Given the description of an element on the screen output the (x, y) to click on. 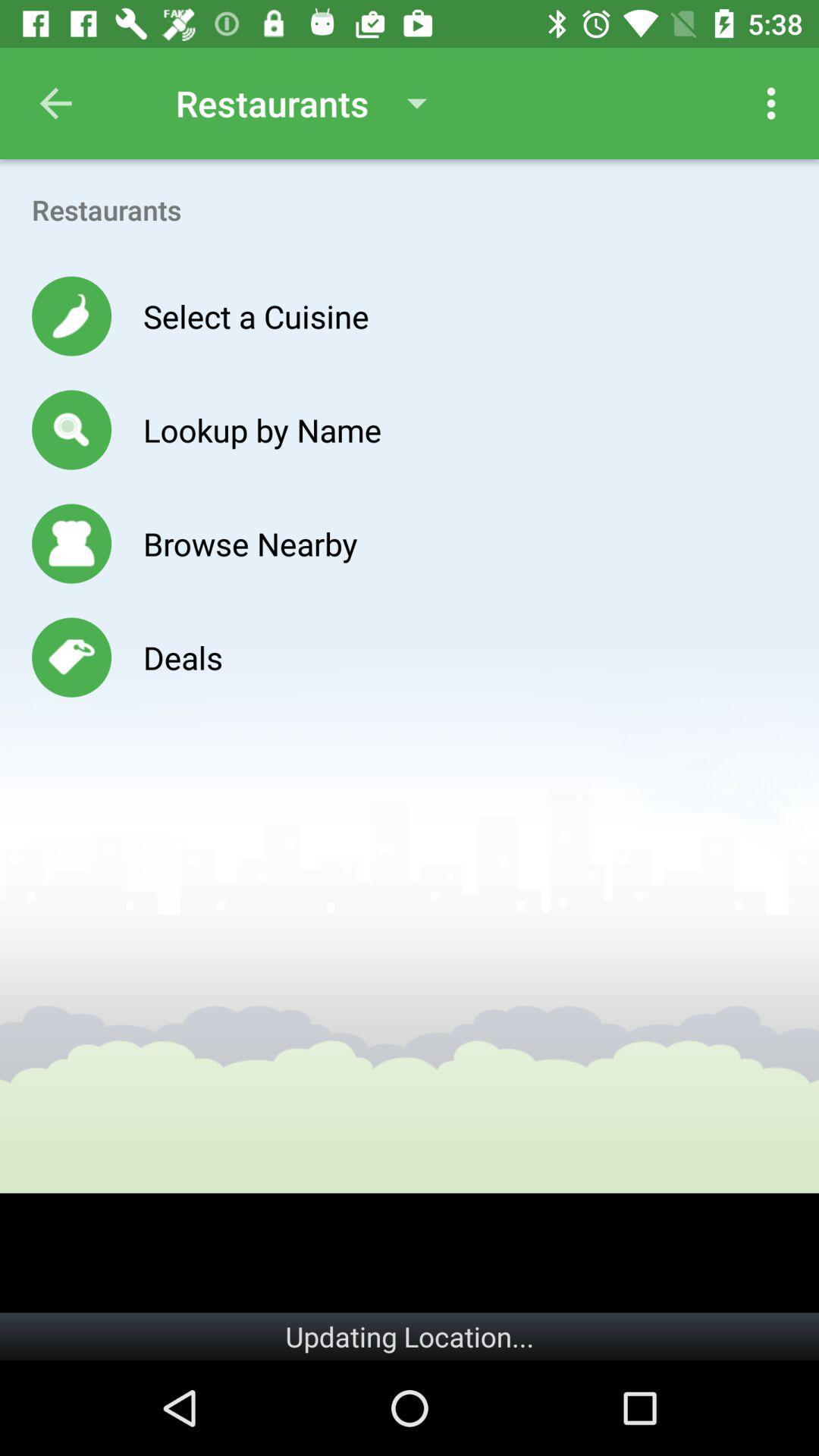
turn off the icon below the select a cuisine icon (262, 429)
